Given the description of an element on the screen output the (x, y) to click on. 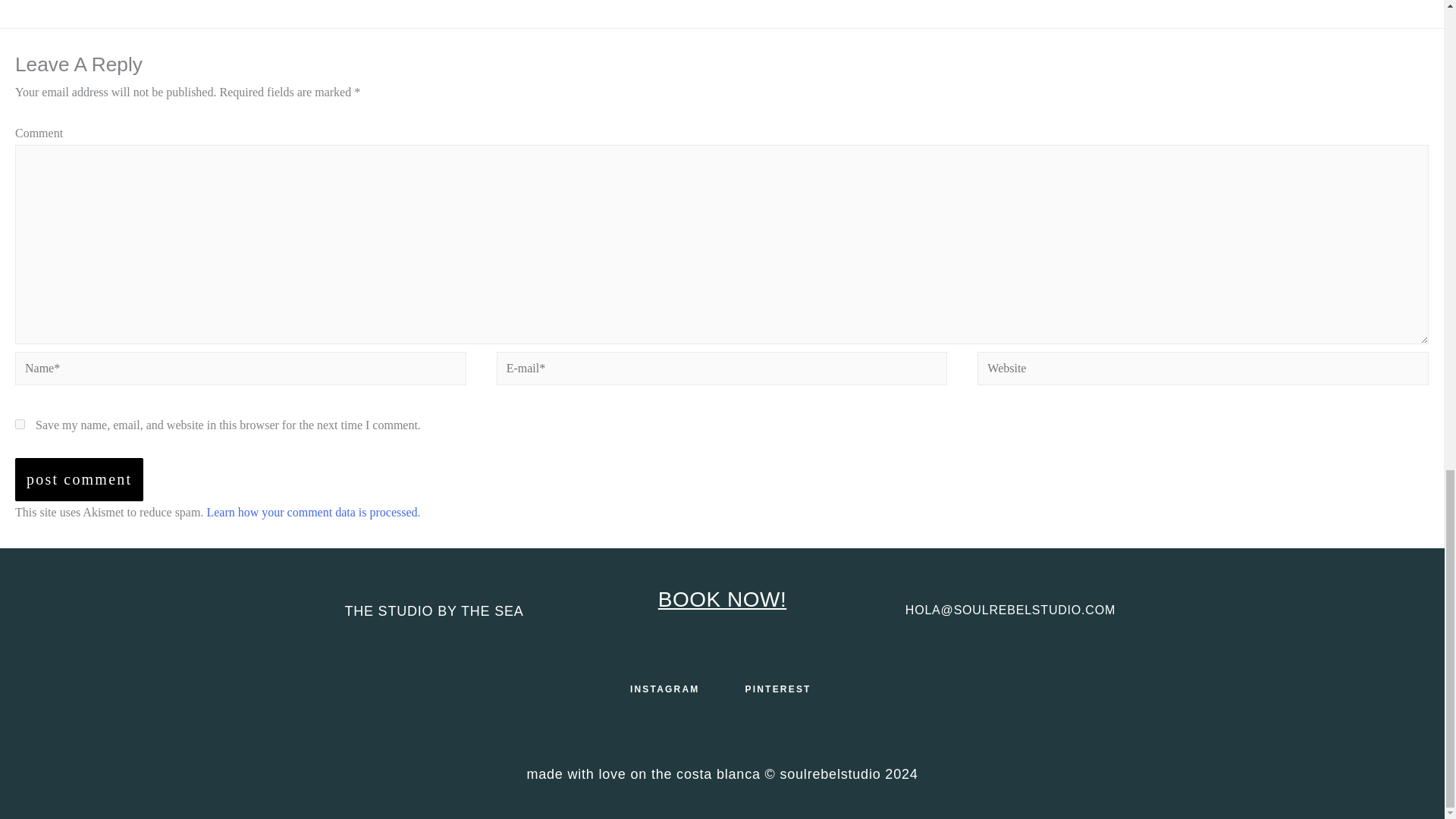
Post Comment (78, 479)
Post Comment (78, 479)
yes (19, 424)
